Given the description of an element on the screen output the (x, y) to click on. 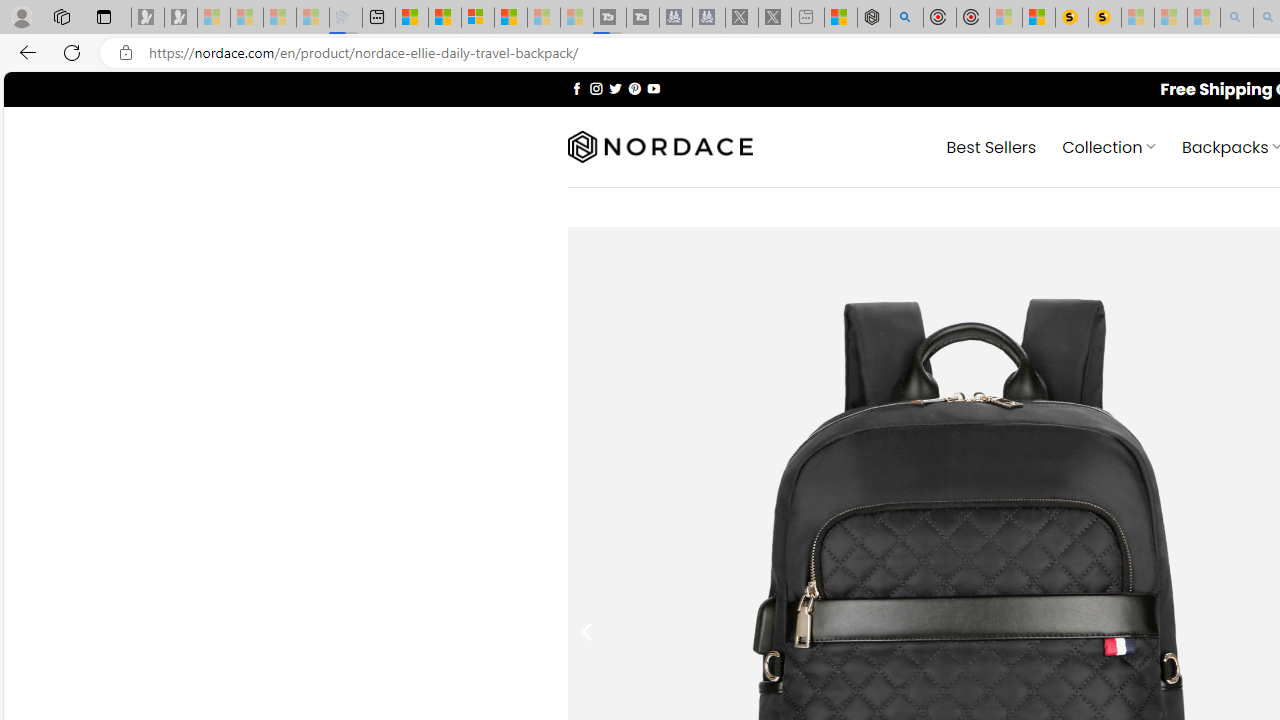
 Best Sellers (990, 146)
Follow on Pinterest (634, 88)
  Best Sellers (990, 146)
